Given the description of an element on the screen output the (x, y) to click on. 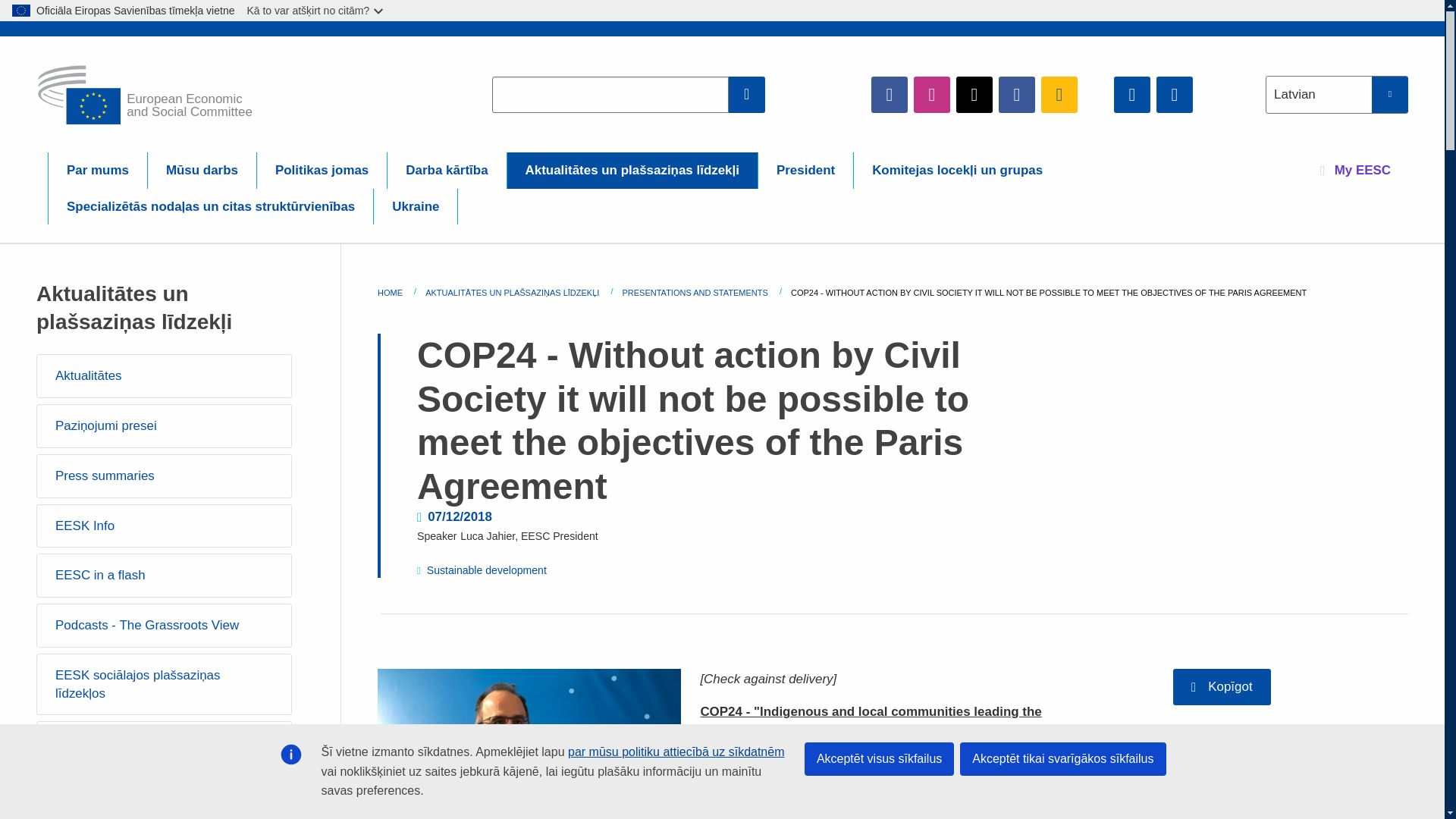
My EESC (1355, 170)
Search EESC Website (747, 94)
